Given the description of an element on the screen output the (x, y) to click on. 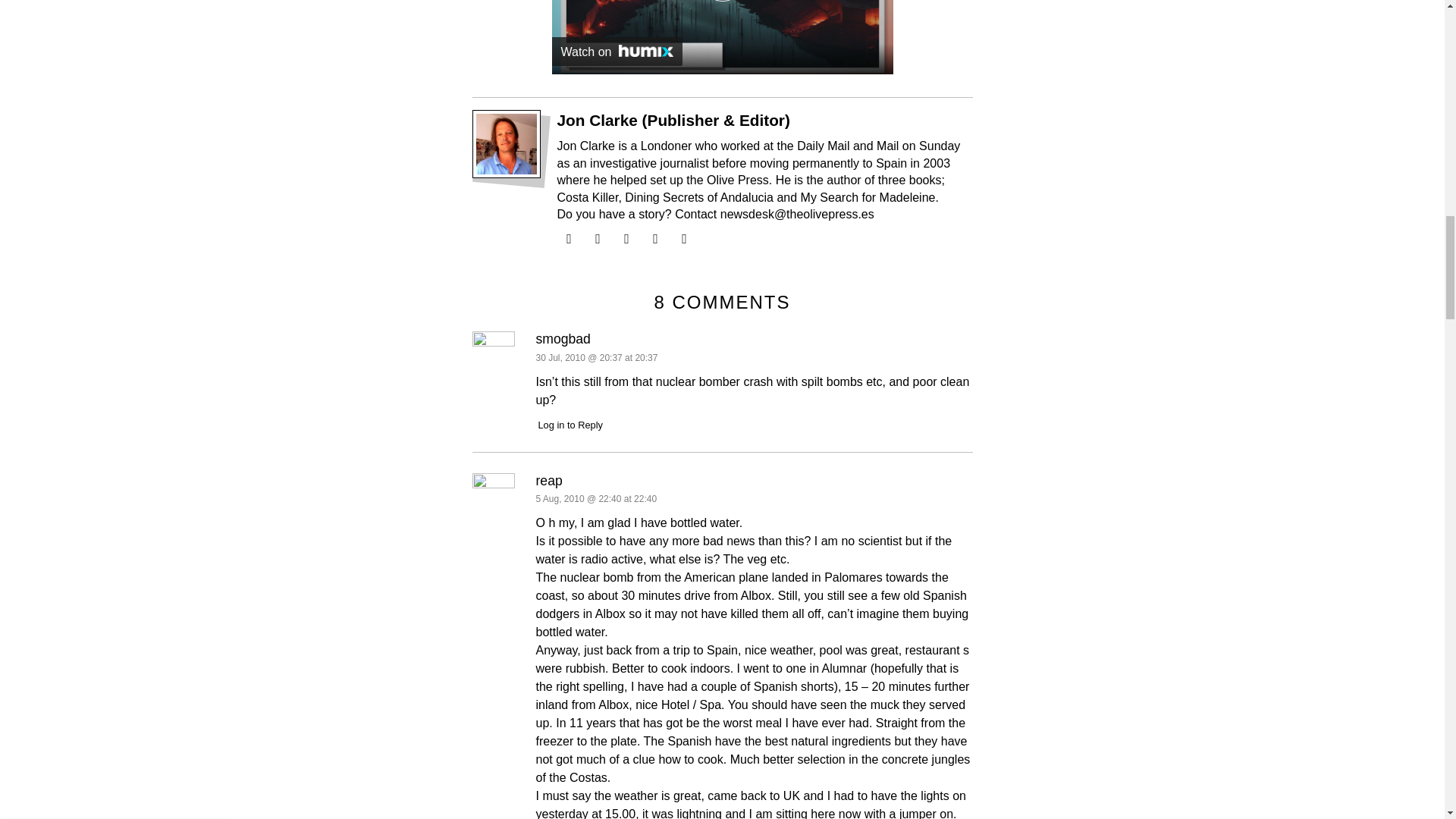
Play Video (721, 0)
